Given the description of an element on the screen output the (x, y) to click on. 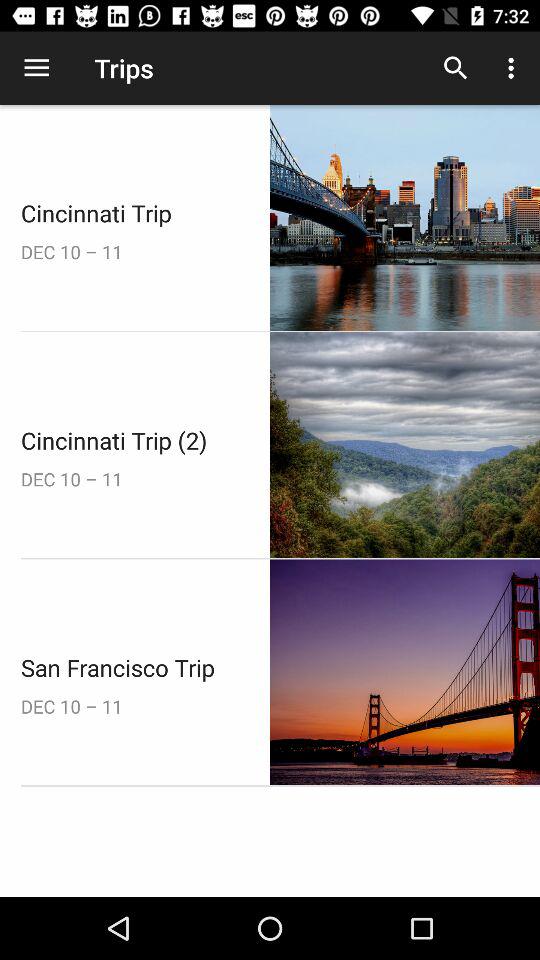
turn on item next to the trips (455, 67)
